Given the description of an element on the screen output the (x, y) to click on. 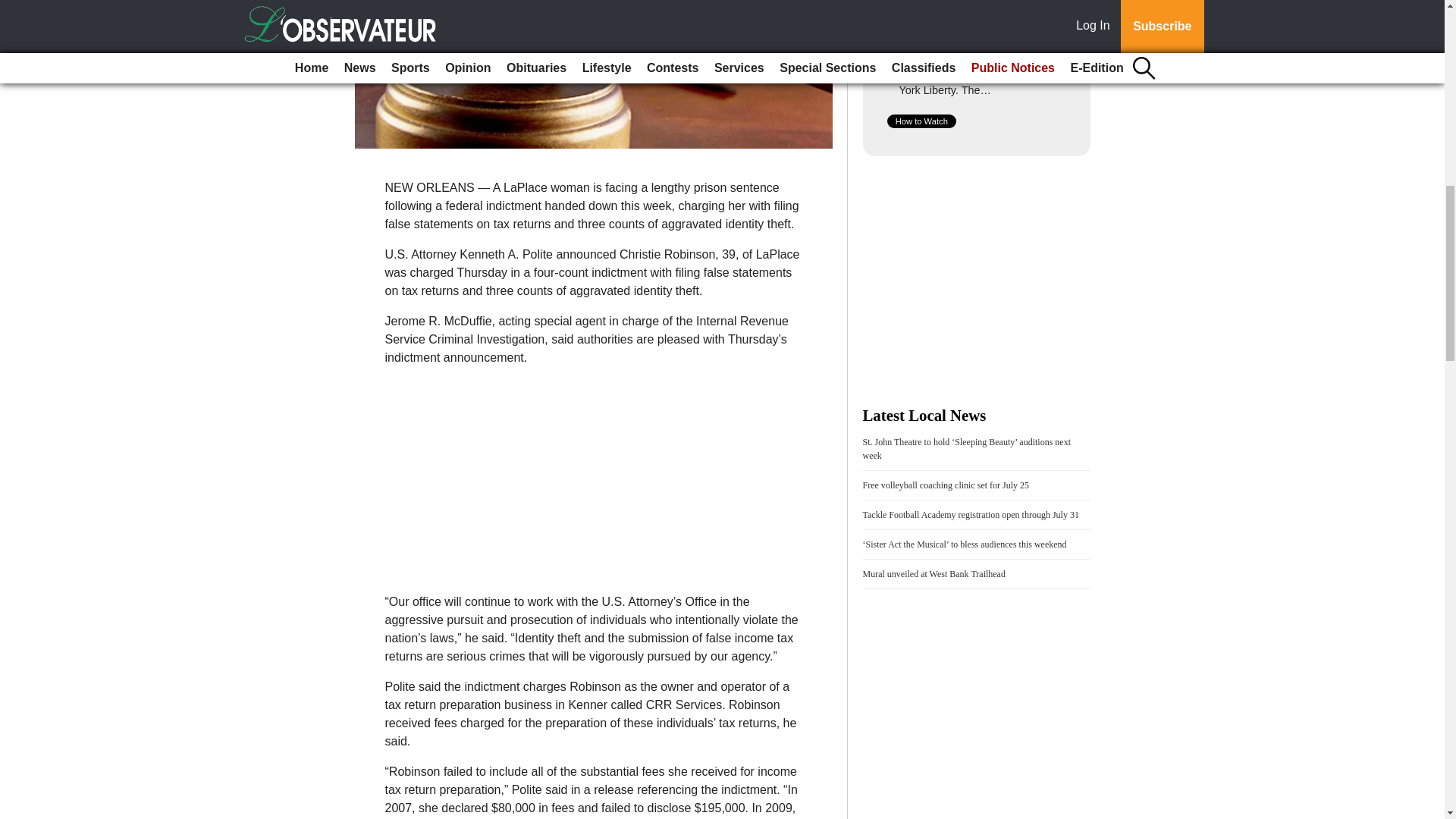
Mural unveiled at West Bank Trailhead (934, 573)
How to Watch (921, 120)
Tackle Football Academy registration open through July 31 (970, 514)
Free volleyball coaching clinic set for July 25 (946, 484)
